Given the description of an element on the screen output the (x, y) to click on. 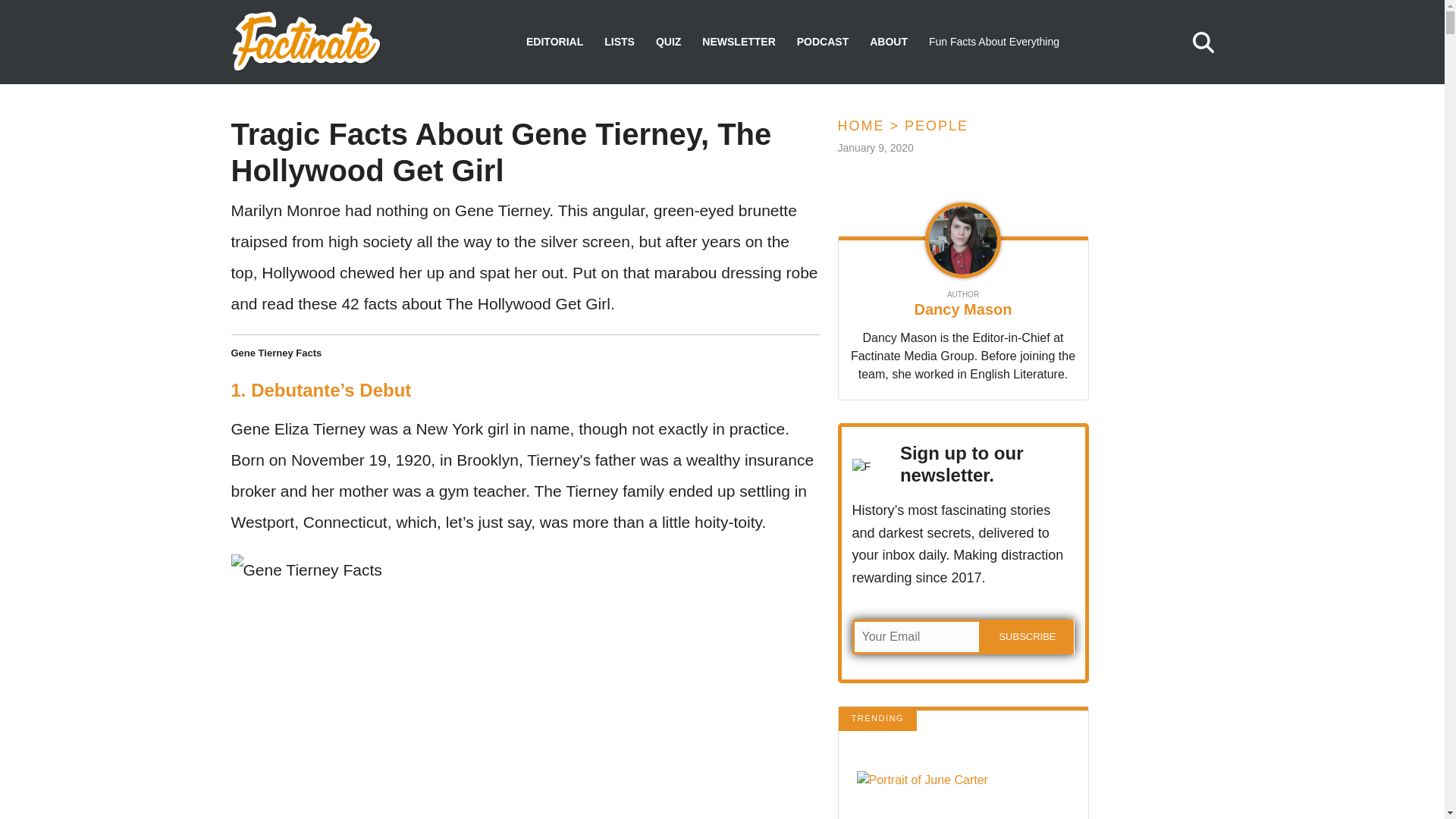
LISTS (619, 41)
PODCAST (822, 41)
QUIZ (668, 41)
EDITORIAL (554, 41)
NEWSLETTER (737, 41)
ABOUT (888, 41)
